Given the description of an element on the screen output the (x, y) to click on. 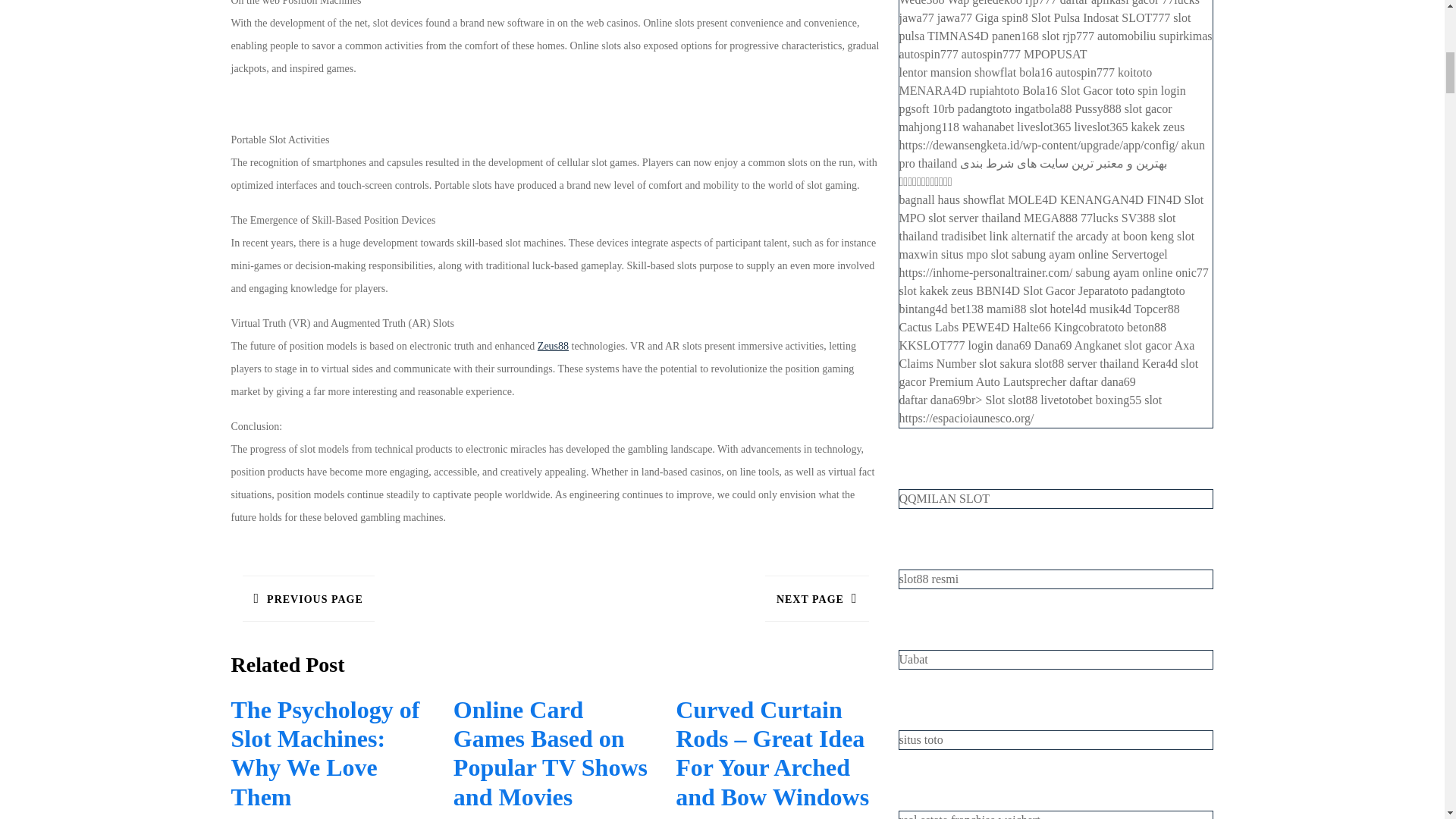
Zeus88 (817, 598)
